Given the description of an element on the screen output the (x, y) to click on. 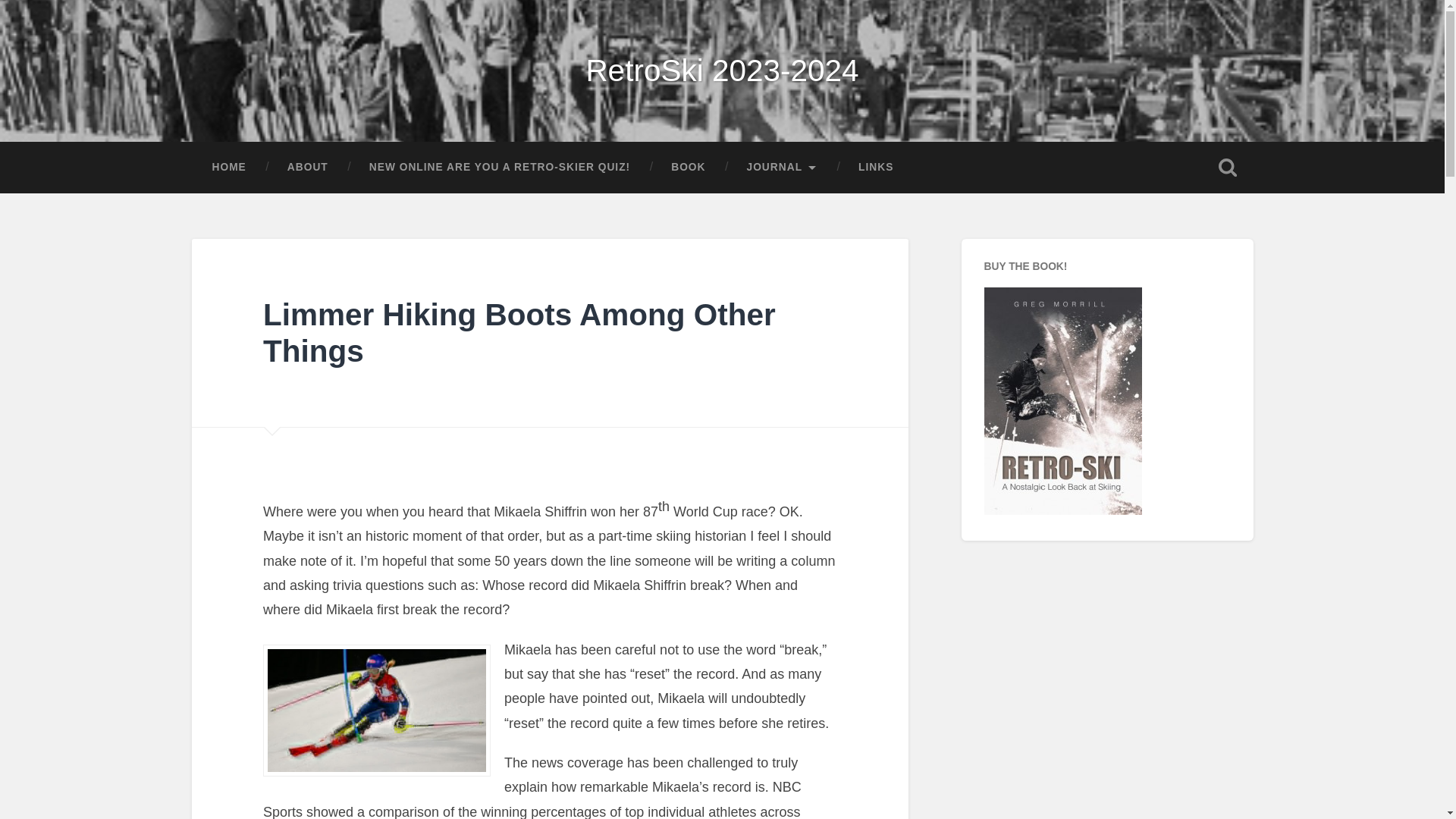
ABOUT (307, 167)
HOME (228, 167)
JOURNAL (782, 167)
RetroSki 2023-2024 (722, 70)
NEW ONLINE ARE YOU A RETRO-SKIER QUIZ! (499, 167)
LINKS (876, 167)
BOOK (687, 167)
Limmer Hiking Boots Among Other Things (519, 333)
